Given the description of an element on the screen output the (x, y) to click on. 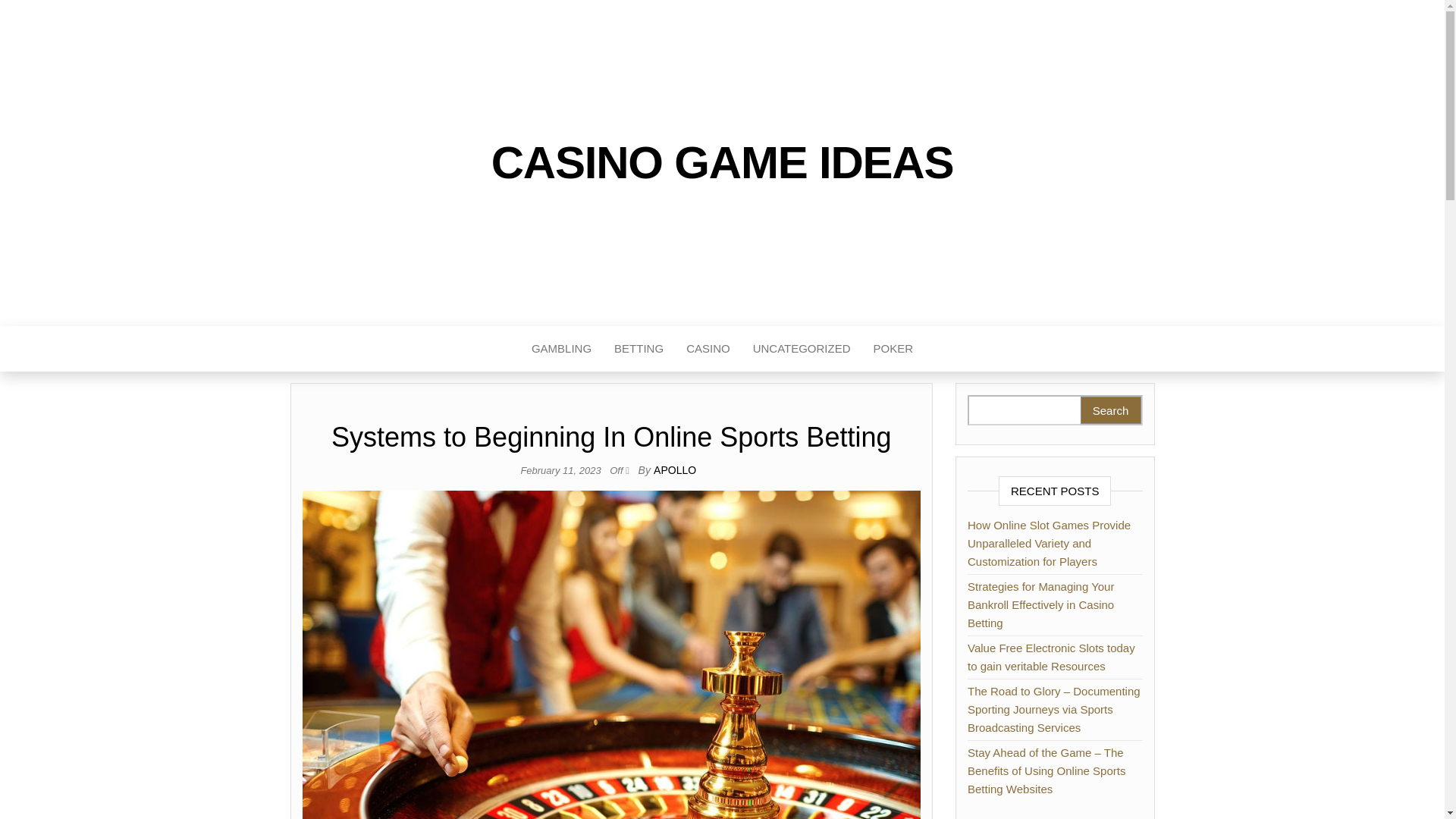
Uncategorized (801, 348)
CASINO (708, 348)
CASINO GAME IDEAS (722, 162)
POKER (892, 348)
BETTING (638, 348)
Gambling (560, 348)
Search (1110, 410)
GAMBLING (560, 348)
Casino (708, 348)
Betting (638, 348)
UNCATEGORIZED (801, 348)
Search (1110, 410)
